Given the description of an element on the screen output the (x, y) to click on. 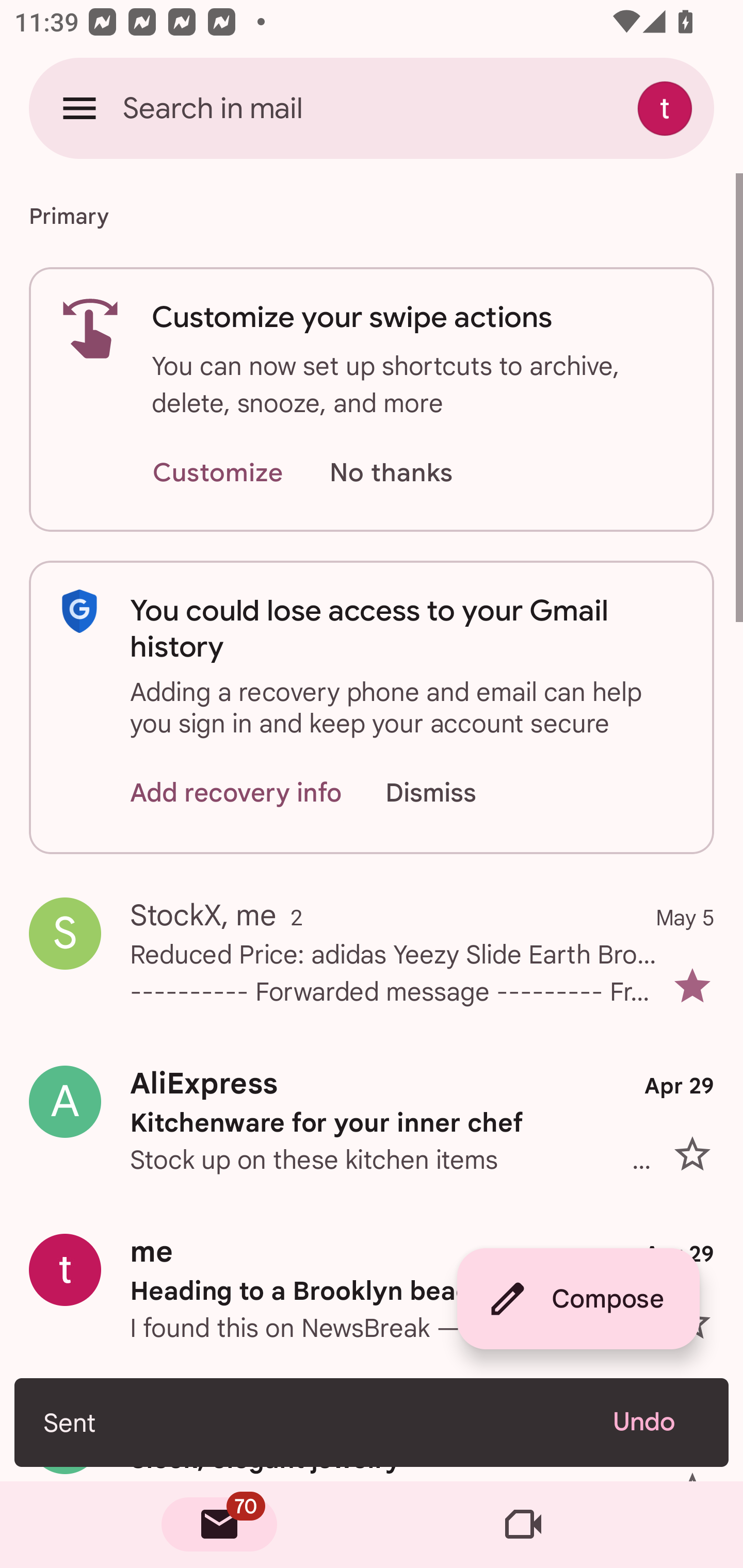
Open navigation drawer (79, 108)
Customize (217, 473)
No thanks (390, 473)
Add recovery info (235, 792)
Dismiss (449, 792)
Compose (577, 1299)
Undo (655, 1422)
Meet (523, 1524)
